Given the description of an element on the screen output the (x, y) to click on. 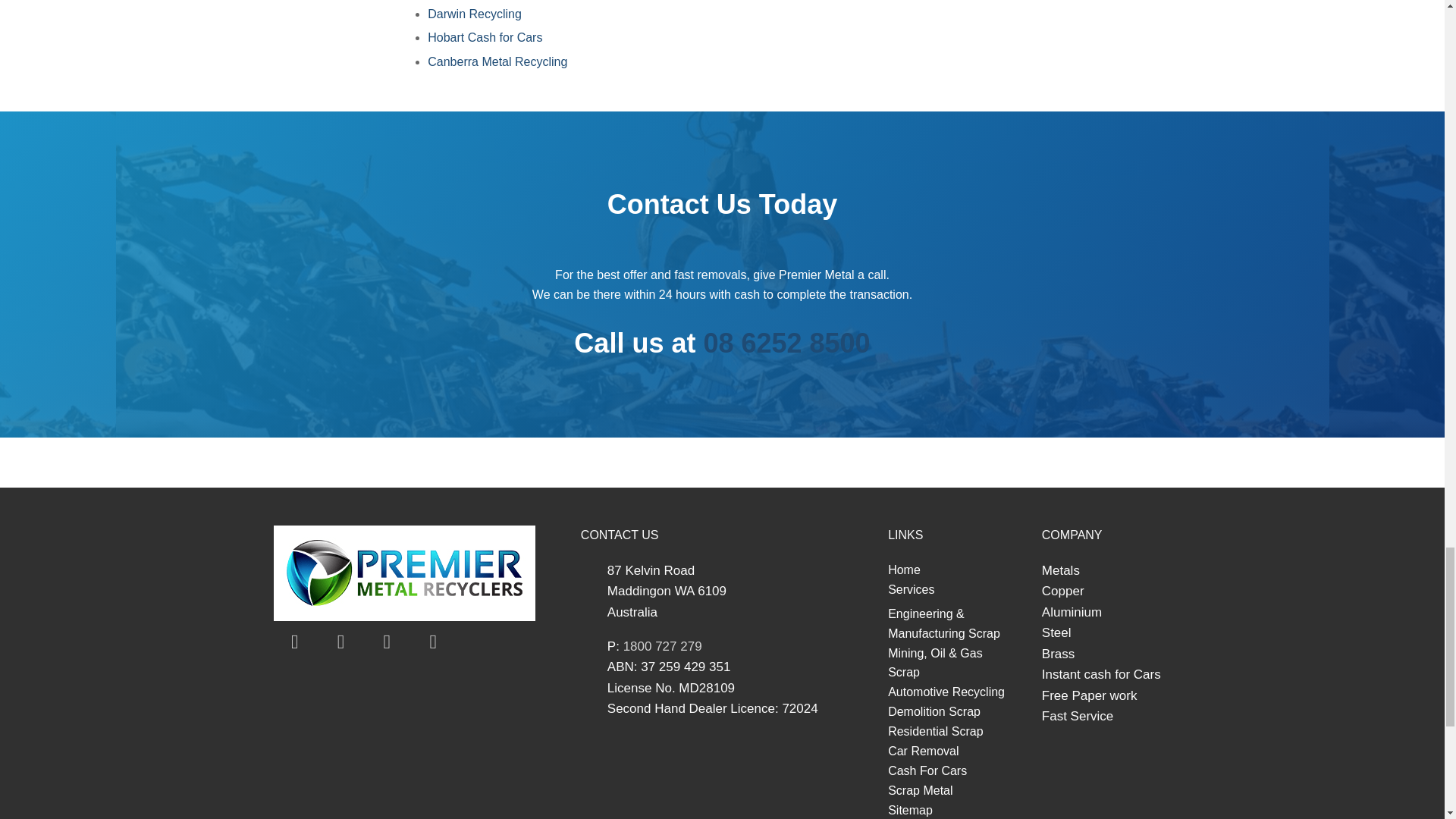
Facebook (294, 641)
linkedin (386, 641)
Twitter (340, 641)
Instagram (432, 641)
